Given the description of an element on the screen output the (x, y) to click on. 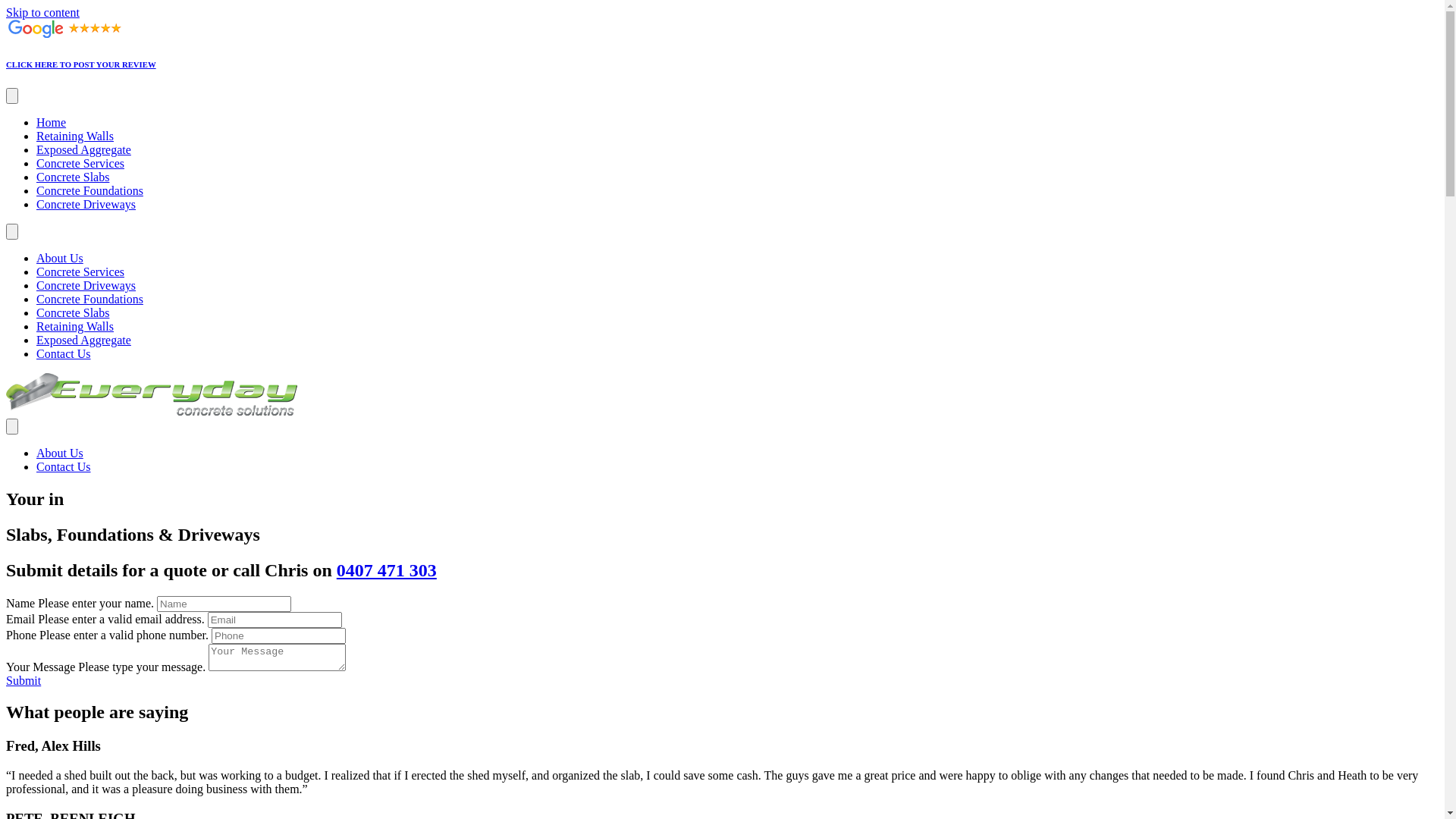
Submit Element type: text (23, 680)
Exposed Aggregate Element type: text (83, 149)
Concrete Foundations Element type: text (89, 190)
Retaining Walls Element type: text (74, 326)
Concrete Slabs Element type: text (72, 312)
About Us Element type: text (59, 257)
Home Element type: text (50, 122)
google Element type: hover (64, 28)
Concrete Foundations Element type: text (89, 298)
CLICK HERE TO POST YOUR REVIEW Element type: text (81, 64)
Contact Us Element type: text (63, 466)
Retaining Walls Element type: text (74, 135)
Contact Us Element type: text (63, 353)
Concrete Services Element type: text (80, 271)
Exposed Aggregate Element type: text (83, 339)
Concrete Services Element type: text (80, 162)
logo2 Element type: hover (151, 394)
About Us Element type: text (59, 452)
Concrete Driveways Element type: text (85, 203)
0407 471 303 Element type: text (386, 570)
Skip to content Element type: text (42, 12)
Concrete Slabs Element type: text (72, 176)
Concrete Driveways Element type: text (85, 285)
